Given the description of an element on the screen output the (x, y) to click on. 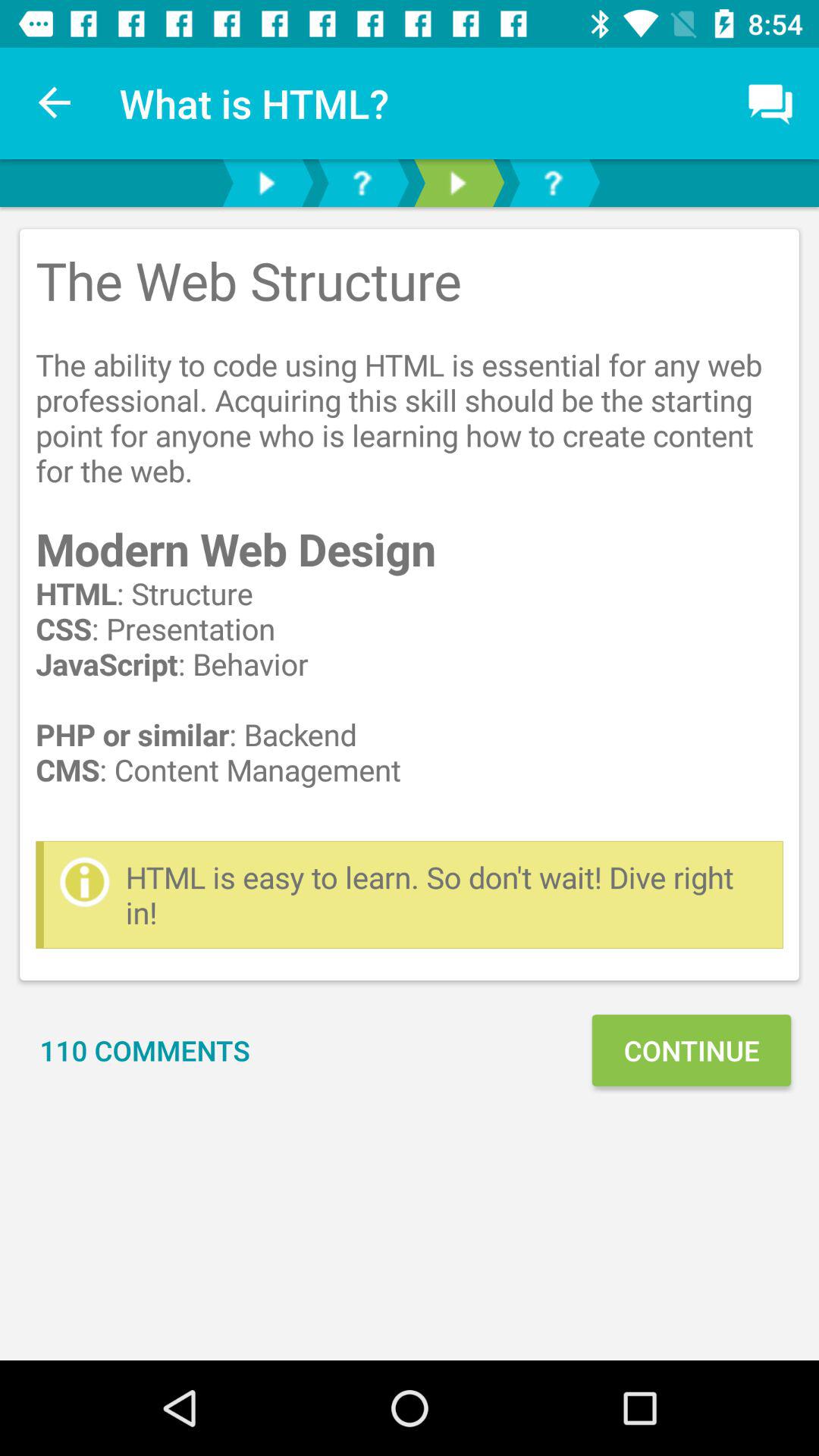
scroll until 110 comments item (144, 1050)
